Given the description of an element on the screen output the (x, y) to click on. 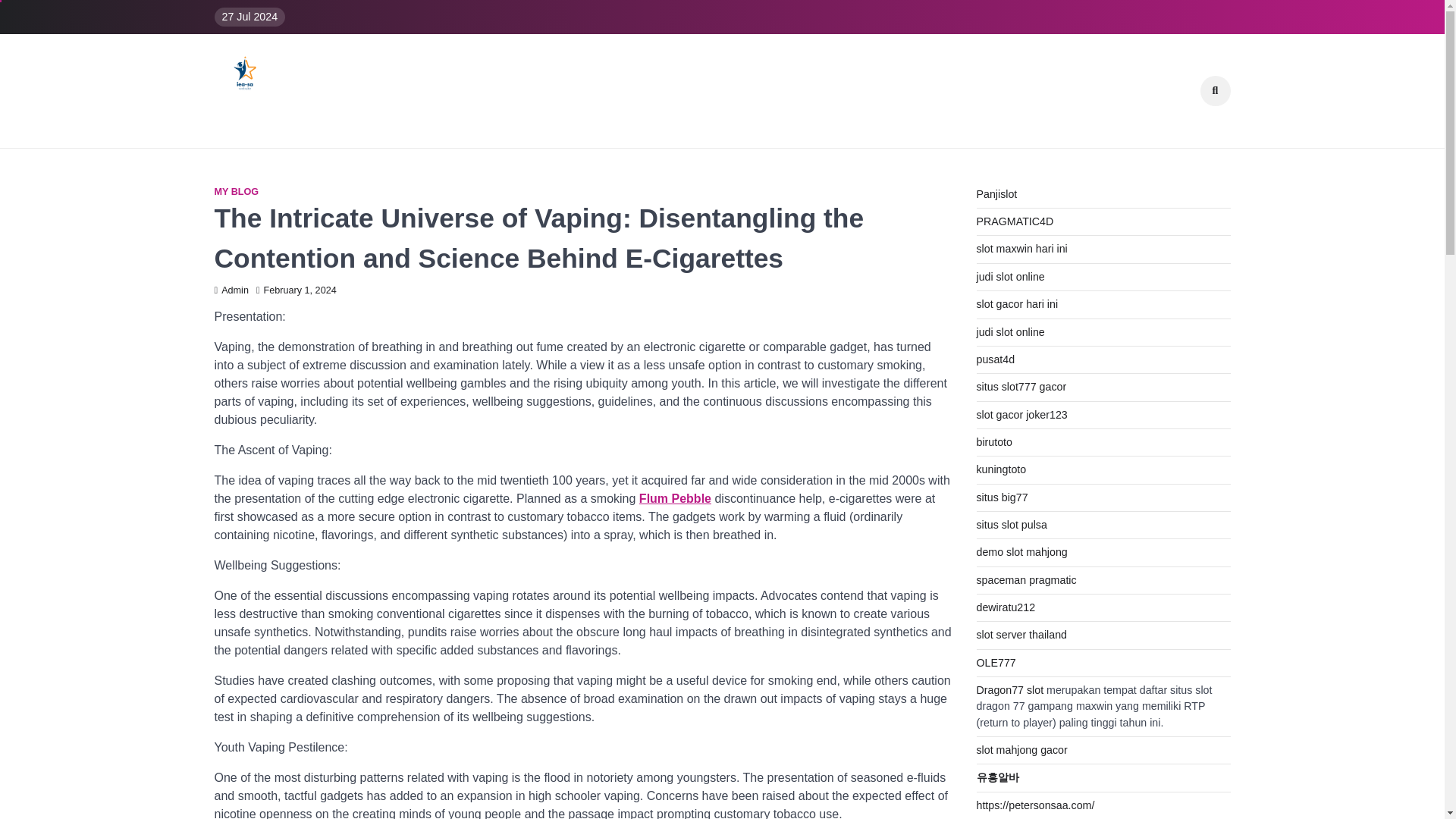
judi slot online (1010, 331)
dewiratu212 (1005, 607)
February 1, 2024 (296, 290)
MY BLOG (236, 192)
slot gacor joker123 (1021, 414)
situs big77 (1001, 497)
spaceman pragmatic (1026, 580)
situs slot pulsa (1011, 524)
Admin (230, 290)
kuningtoto (1001, 469)
slot server thailand (1021, 634)
Panjislot (996, 193)
Dragon77 slot (1009, 689)
Search (1191, 131)
slot mahjong gacor (1021, 749)
